Given the description of an element on the screen output the (x, y) to click on. 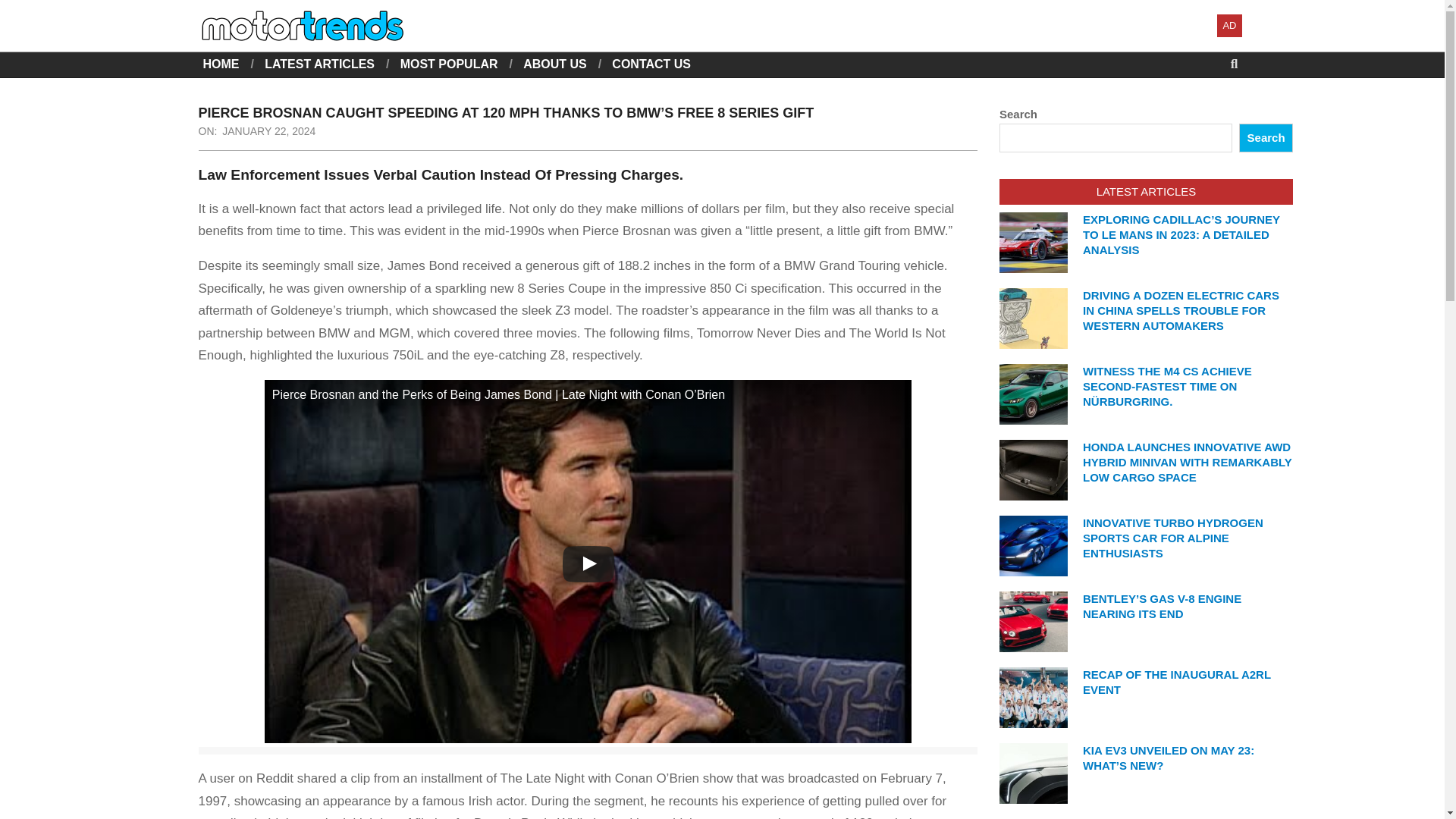
CONTACT US (650, 63)
RECAP OF THE INAUGURAL A2RL EVENT (1177, 682)
ABOUT US (554, 63)
Search (1265, 137)
Monday, January 22, 2024, 3:27 pm (268, 131)
MOST POPULAR (448, 63)
LATEST ARTICLES (319, 63)
Search (24, 9)
HOME (221, 63)
INNOVATIVE TURBO HYDROGEN SPORTS CAR FOR ALPINE ENTHUSIASTS (1173, 537)
